Given the description of an element on the screen output the (x, y) to click on. 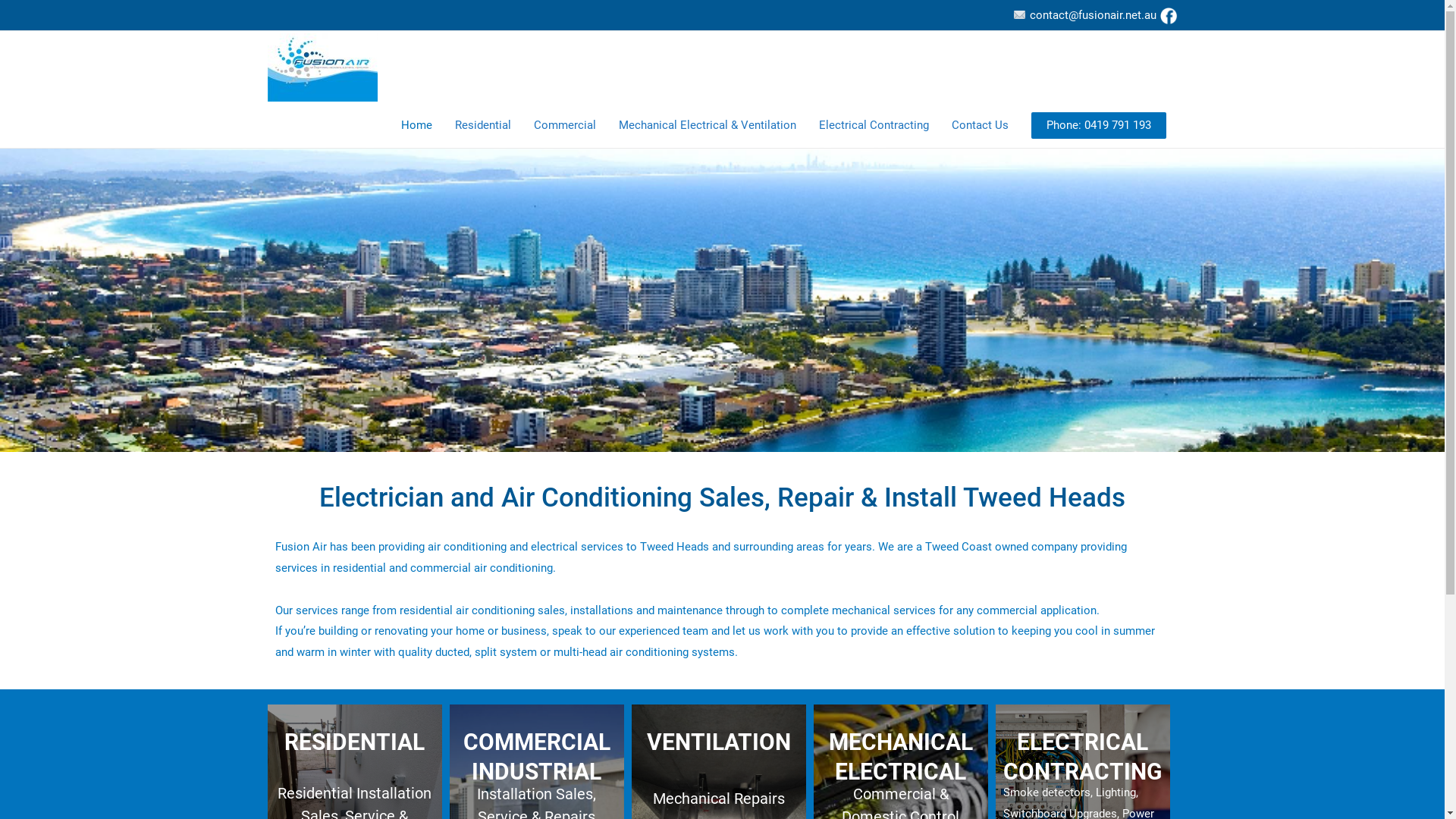
RESIDENTIAL Element type: text (354, 741)
Home Element type: text (416, 124)
Phone: 0419 791 193 Element type: text (1098, 125)
Mechanical Electrical & Ventilation Element type: text (706, 124)
Residential Element type: text (481, 124)
Commercial Element type: text (563, 124)
COMMERCIAL INDUSTRIAL Element type: text (535, 756)
Contact Us Element type: text (979, 124)
Electrical Contracting Element type: text (872, 124)
ELECTRICAL CONTRACTING Element type: text (1082, 756)
contact@fusionair.net.au Element type: text (1084, 14)
